Given the description of an element on the screen output the (x, y) to click on. 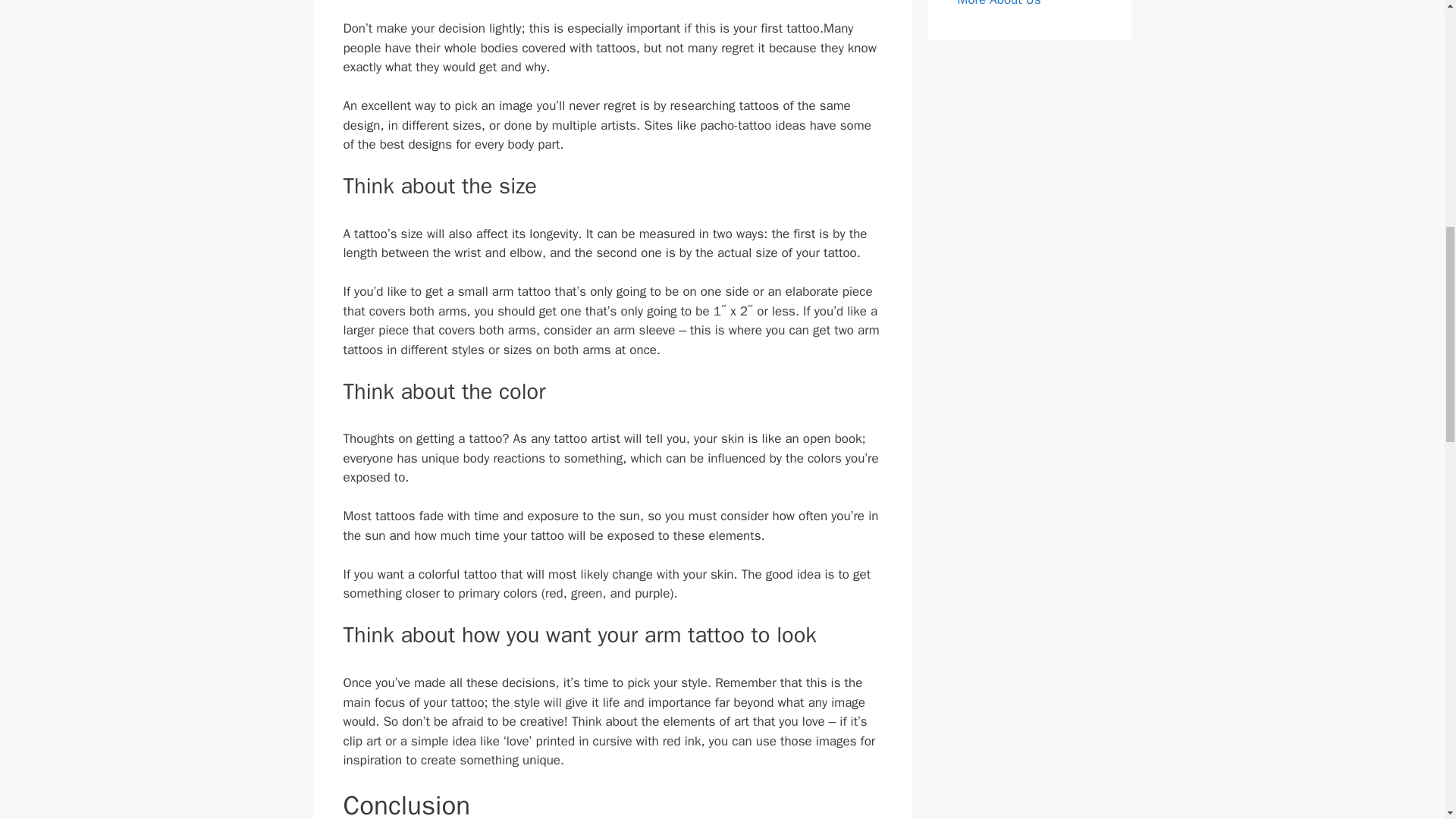
Scroll back to top (1406, 720)
